Given the description of an element on the screen output the (x, y) to click on. 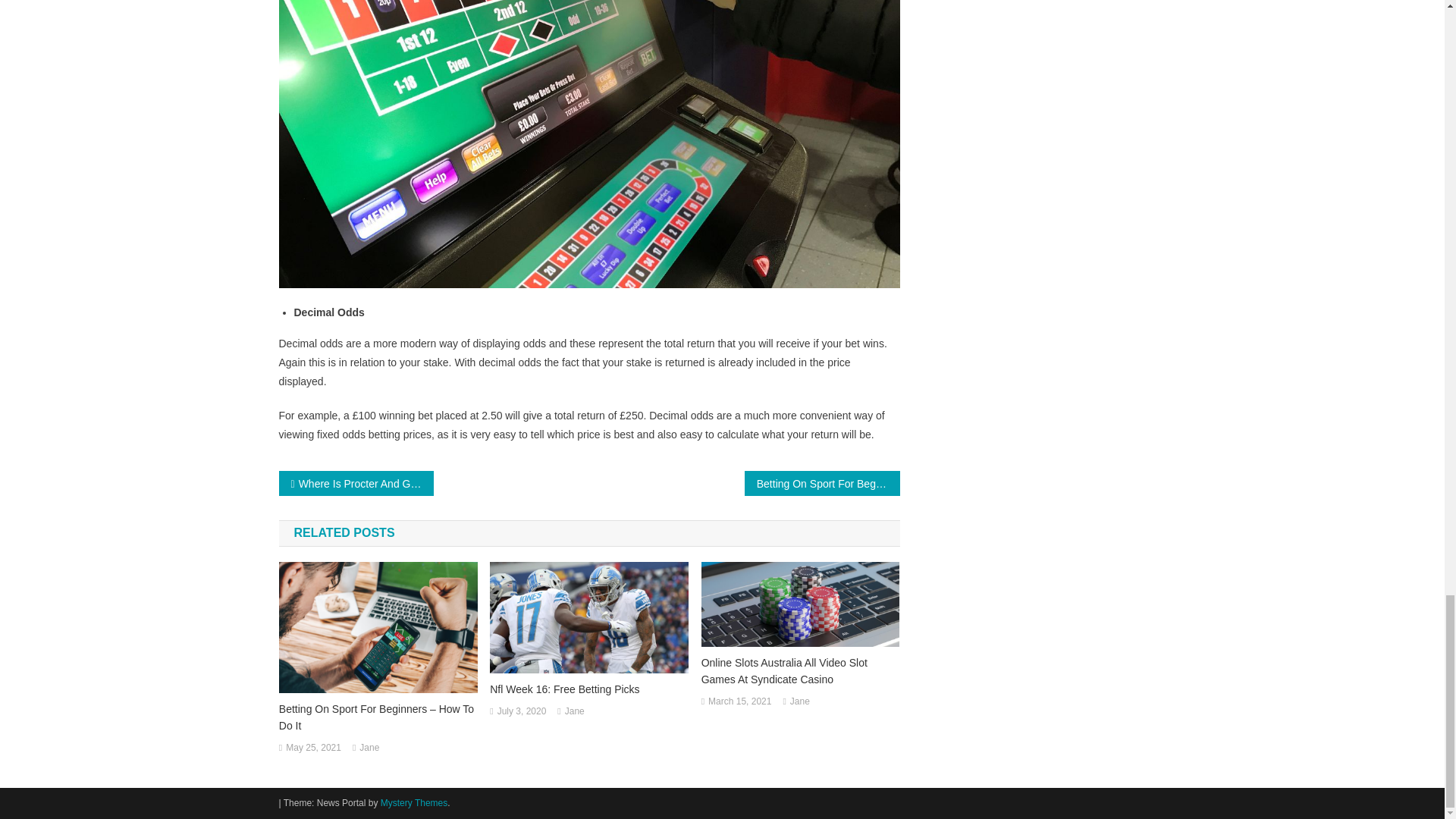
July 3, 2020 (522, 711)
Nfl Week 16: Free Betting Picks (588, 688)
Mystery Themes (413, 802)
Jane (799, 701)
March 15, 2021 (739, 701)
Jane (368, 748)
May 25, 2021 (312, 748)
Jane (574, 711)
